Given the description of an element on the screen output the (x, y) to click on. 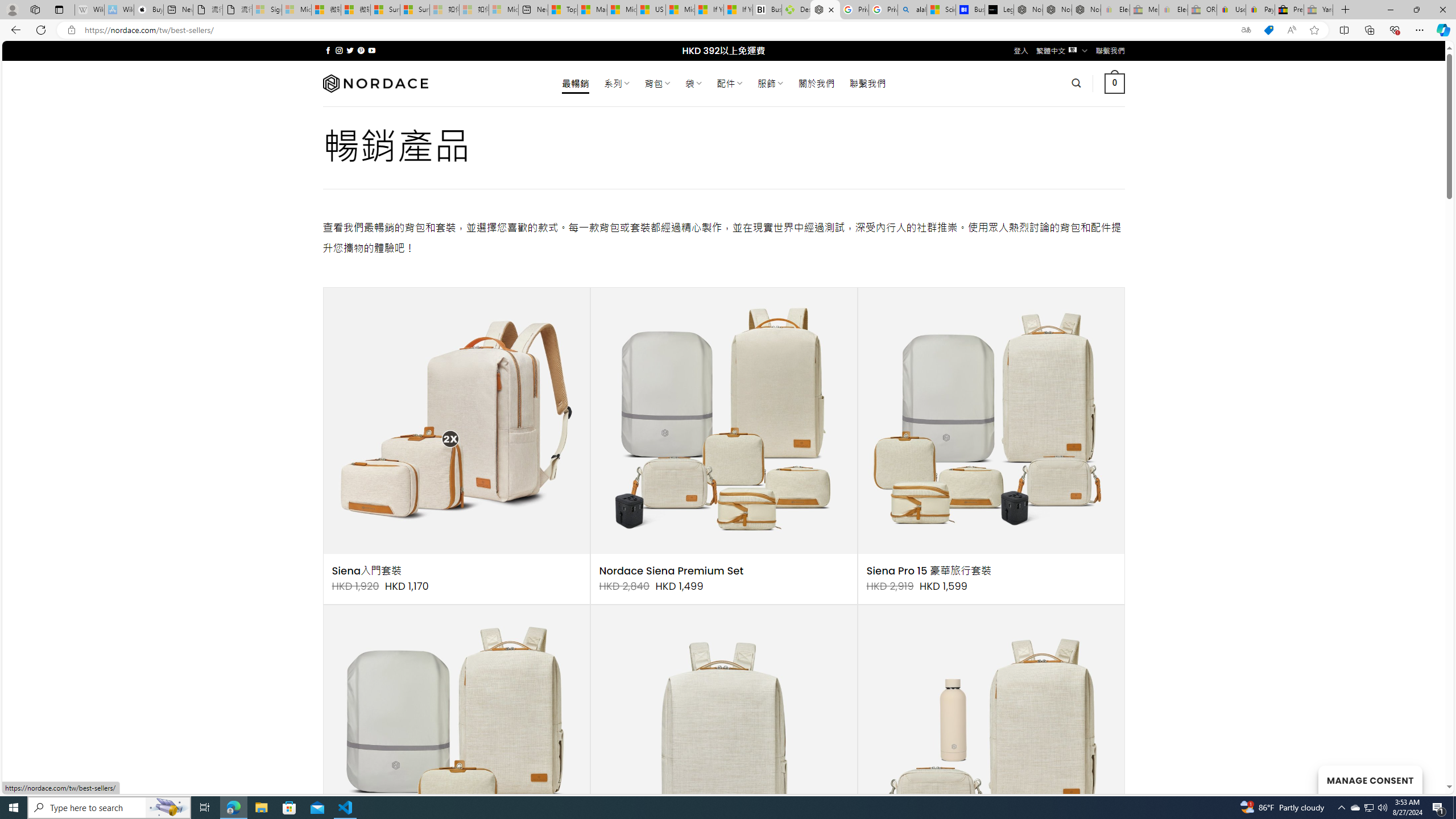
New tab (533, 9)
Nordace (374, 83)
App bar (728, 29)
Settings and more (Alt+F) (1419, 29)
Microsoft Services Agreement - Sleeping (295, 9)
Browser essentials (1394, 29)
Top Stories - MSN (562, 9)
This site has coupons! Shopping in Microsoft Edge (1268, 29)
  0   (1115, 83)
